Given the description of an element on the screen output the (x, y) to click on. 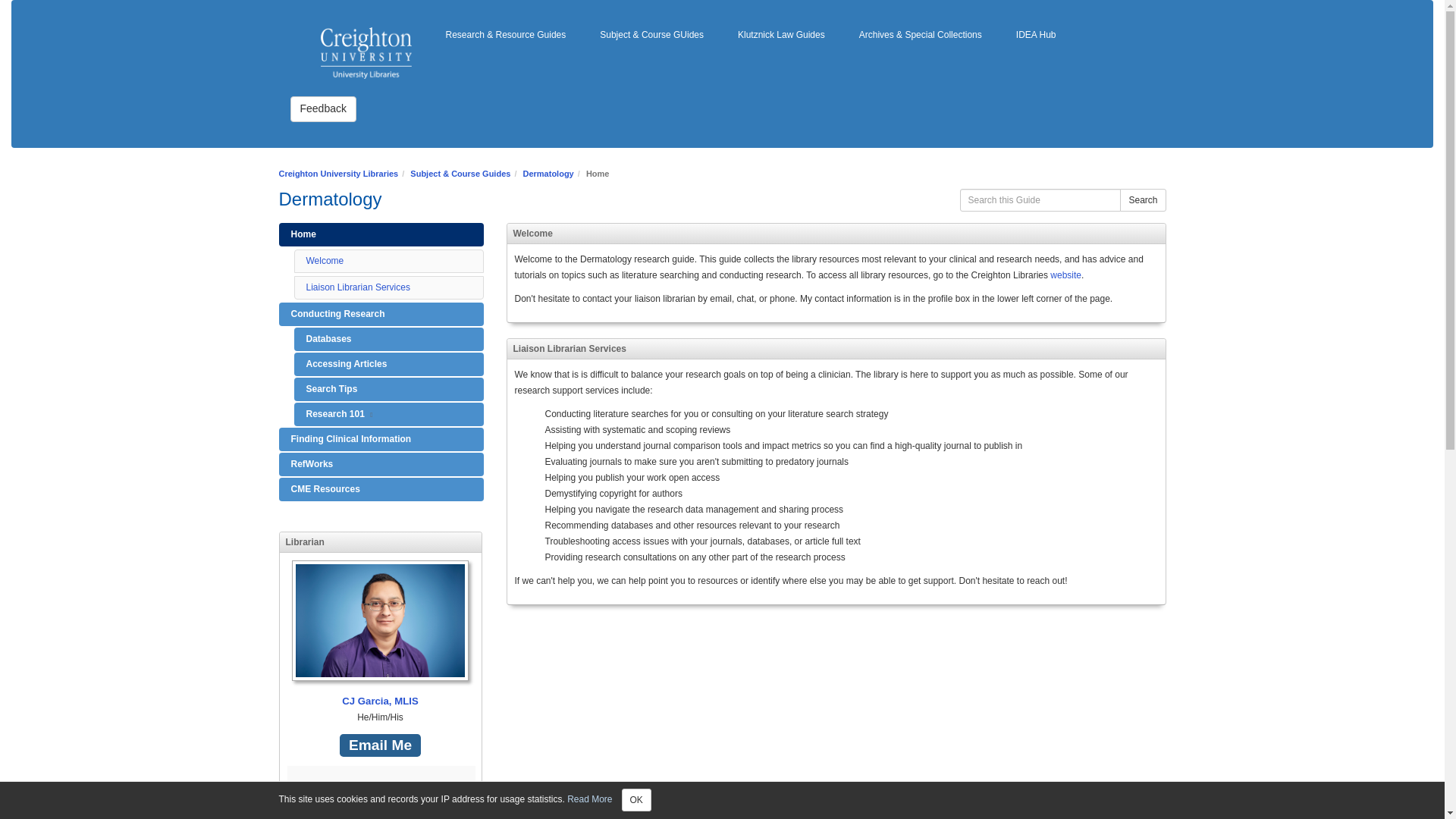
Home (381, 234)
Klutznick Law Guides (781, 34)
Search Tips (388, 389)
Welcome (324, 260)
Creighton University Libraries (338, 173)
Liaison Librarian Services (357, 286)
RefWorks (381, 463)
Feedback (322, 109)
Dermatology (547, 173)
